Given the description of an element on the screen output the (x, y) to click on. 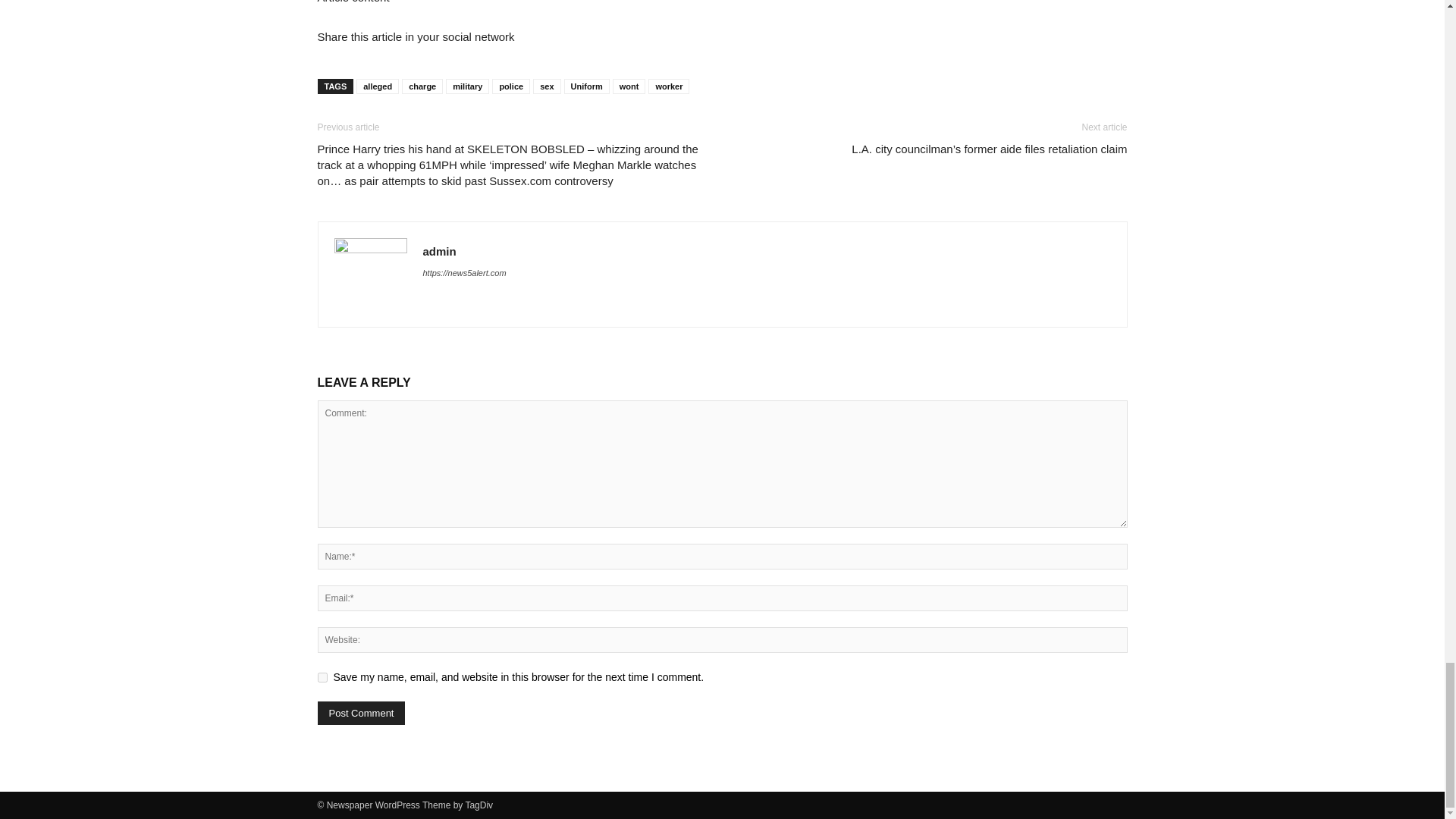
yes (321, 677)
military (467, 86)
wont (629, 86)
Uniform (587, 86)
admin (440, 250)
worker (667, 86)
Post Comment (360, 712)
police (510, 86)
sex (546, 86)
alleged (377, 86)
